Given the description of an element on the screen output the (x, y) to click on. 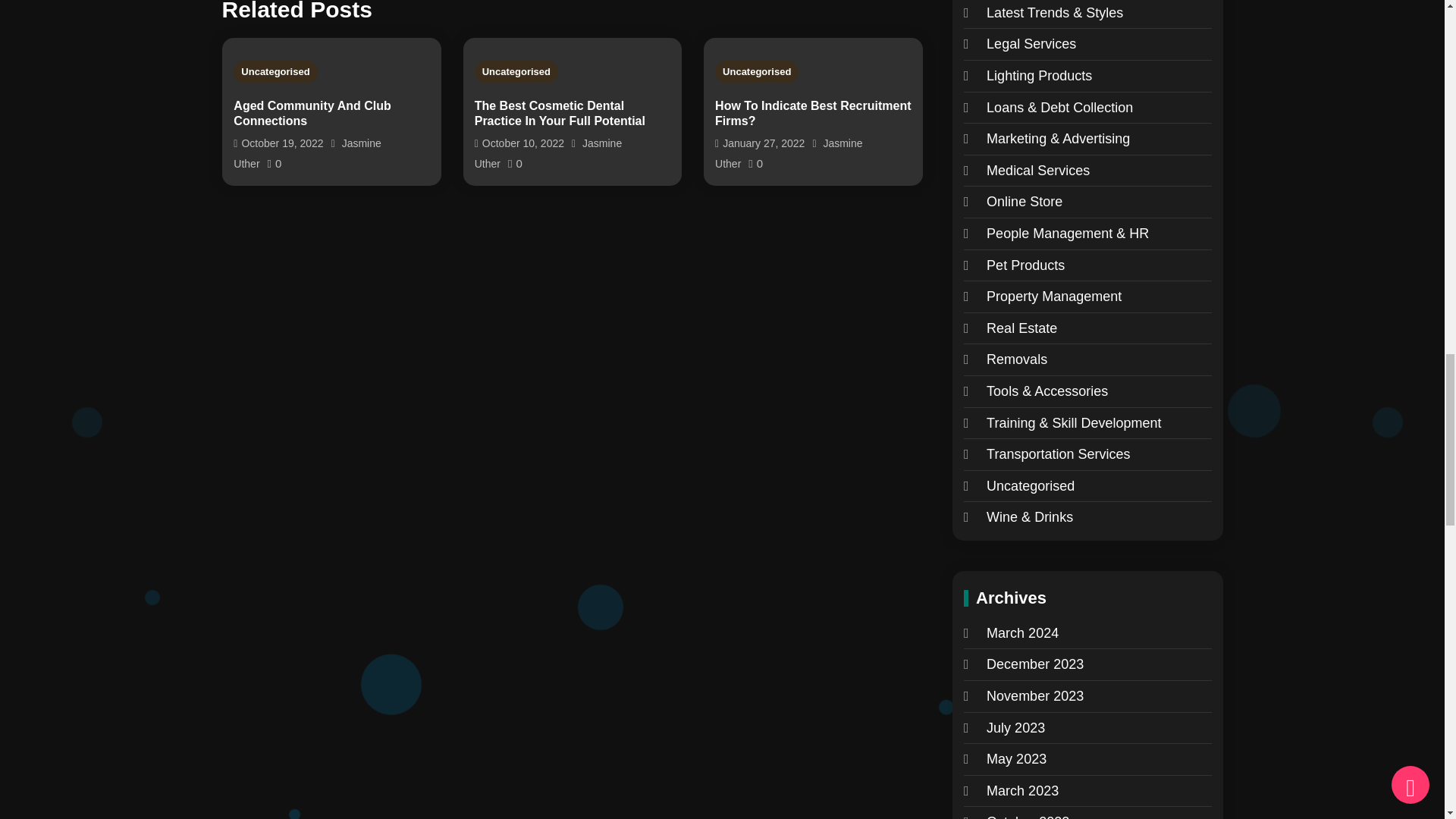
The Best Cosmetic Dental Practice In Your Full Potential (572, 113)
January 27, 2022 (763, 143)
Uncategorised (274, 71)
How To Indicate Best Recruitment Firms? (812, 113)
October 10, 2022 (522, 143)
Aged Community And Club Connections (330, 113)
Uncategorised (515, 71)
Jasmine Uther (787, 153)
Uncategorised (755, 71)
October 19, 2022 (282, 143)
Jasmine Uther (306, 153)
Jasmine Uther (547, 153)
